Given the description of an element on the screen output the (x, y) to click on. 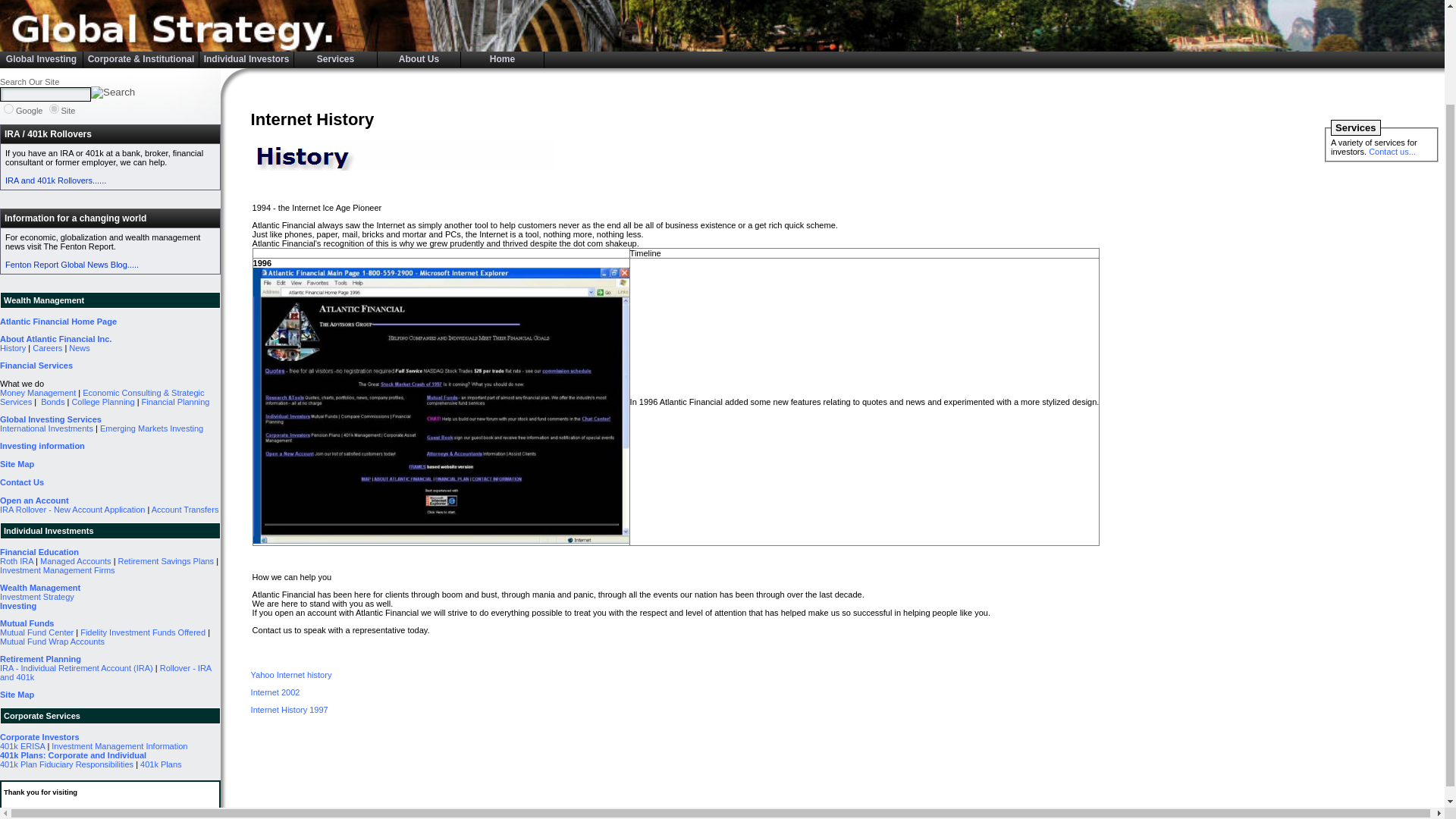
Individual Investors (246, 59)
atlanticfinancial.com (54, 108)
Global Investing (41, 59)
